Given the description of an element on the screen output the (x, y) to click on. 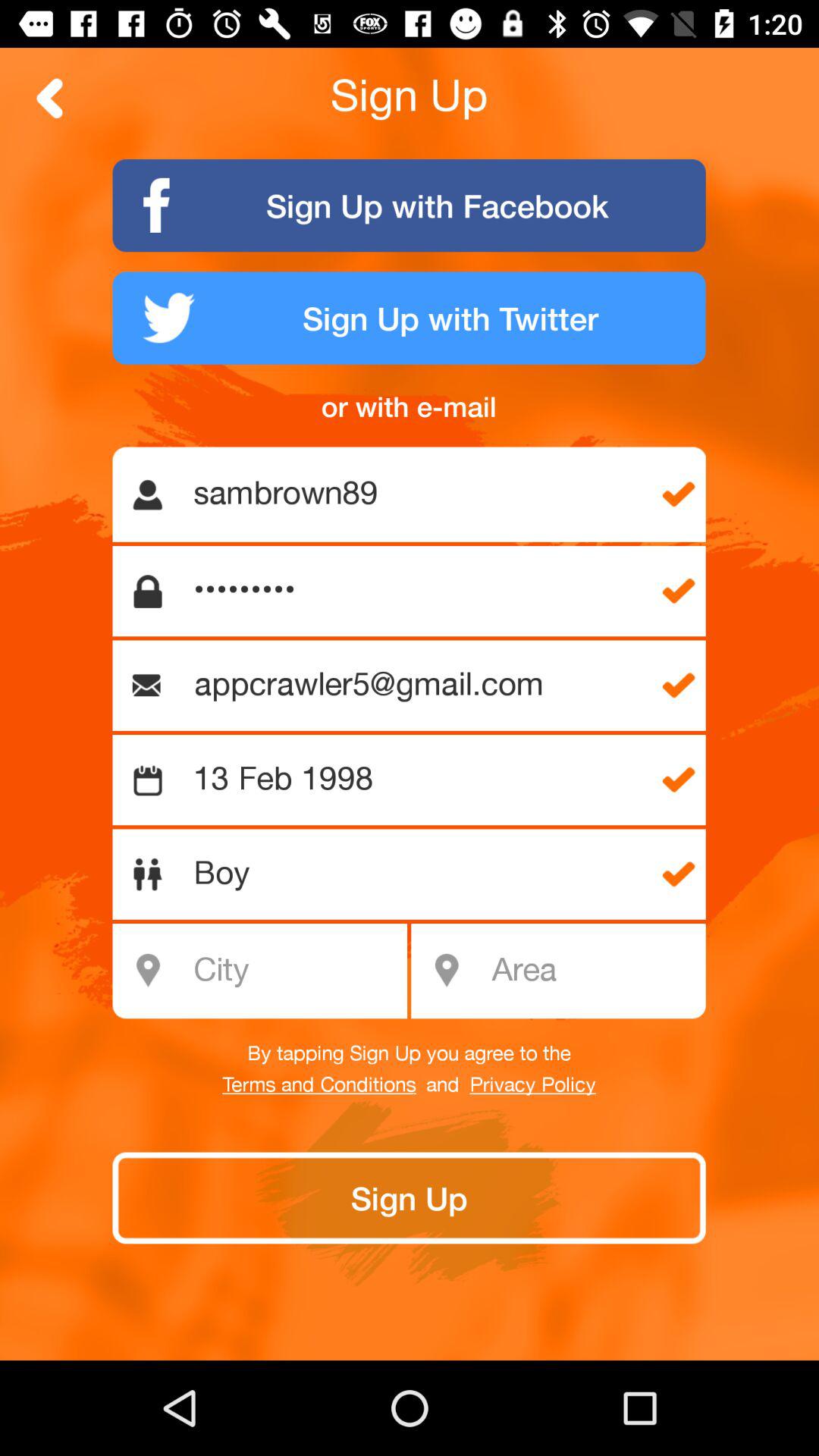
share your current location (593, 970)
